Given the description of an element on the screen output the (x, y) to click on. 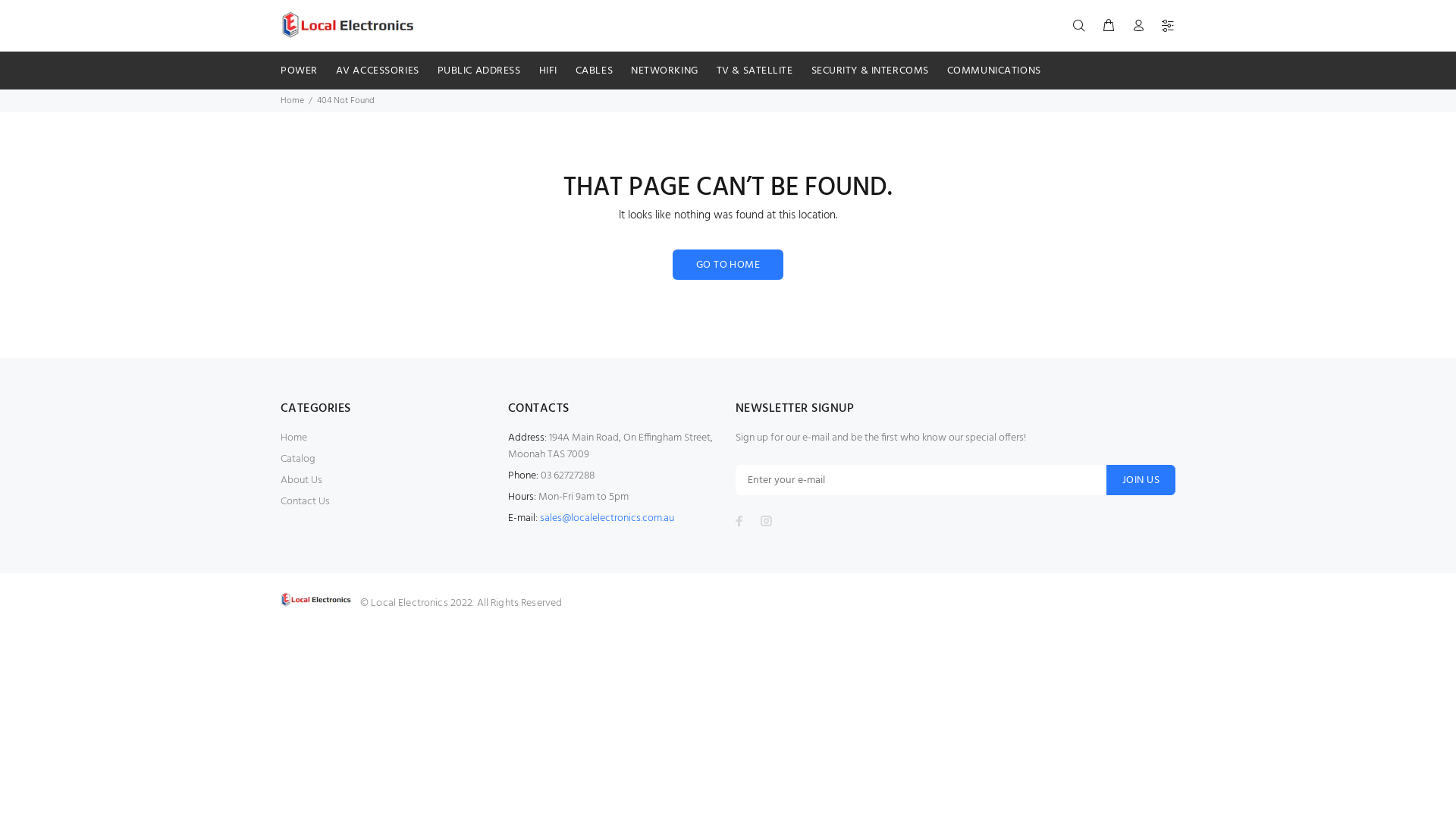
AV ACCESSORIES Element type: text (377, 70)
Catalog Element type: text (297, 459)
JOIN US Element type: text (1140, 479)
Home Element type: text (292, 100)
NETWORKING Element type: text (664, 70)
GO TO HOME Element type: text (727, 264)
About Us Element type: text (301, 480)
HIFI Element type: text (547, 70)
PUBLIC ADDRESS Element type: text (479, 70)
Contact Us Element type: text (304, 501)
TV & SATELLITE Element type: text (754, 70)
POWER Element type: text (298, 70)
SECURITY & INTERCOMS Element type: text (870, 70)
Home Element type: text (293, 437)
COMMUNICATIONS Element type: text (989, 70)
sales@localelectronics.com.au Element type: text (606, 518)
CABLES Element type: text (593, 70)
